Given the description of an element on the screen output the (x, y) to click on. 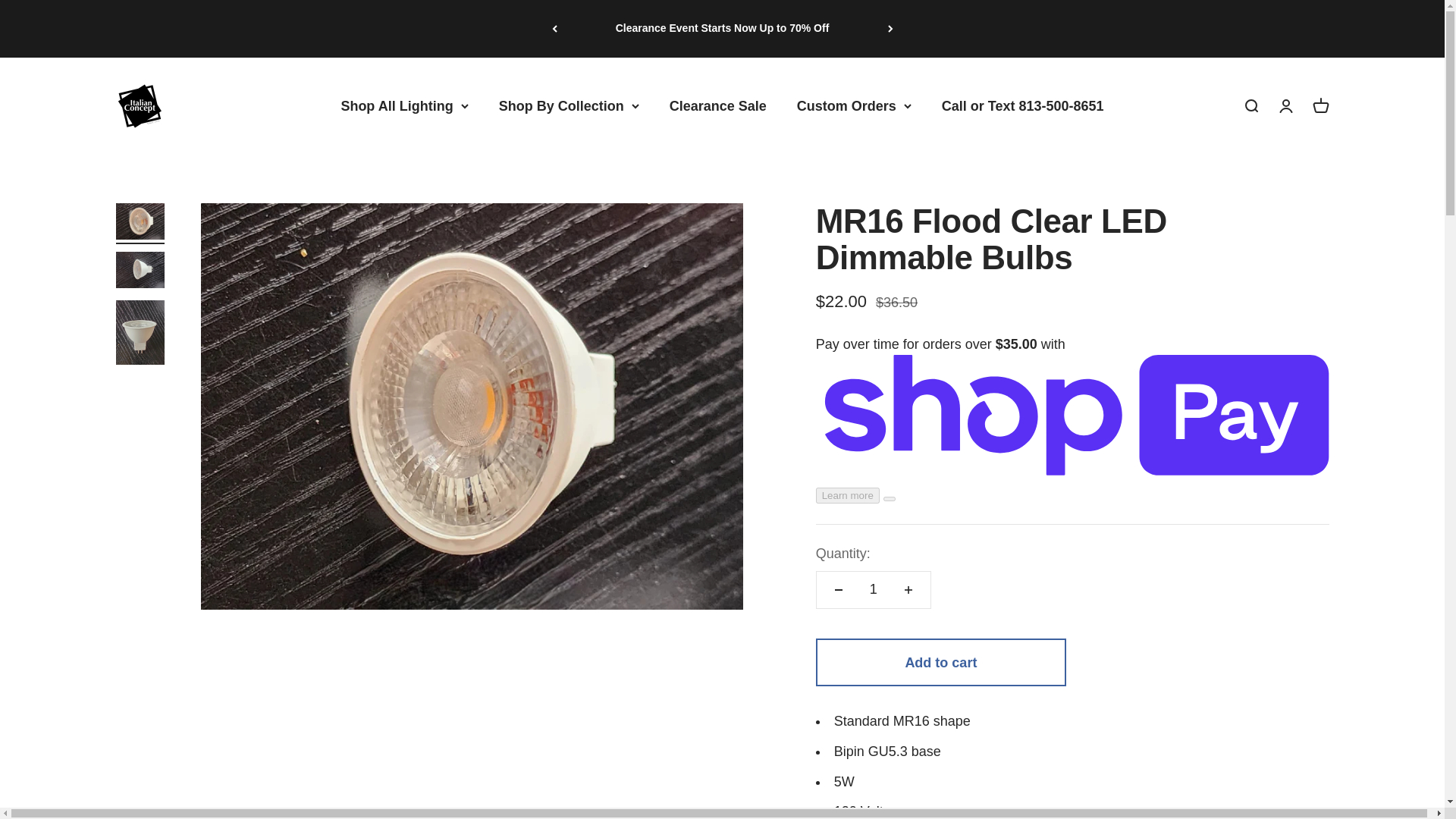
Call or Text 813-500-8651 (1022, 105)
Clearance Sale (718, 105)
Italian Concept (137, 105)
Open account page (1285, 105)
Open search (1250, 105)
Open cart (1319, 105)
